Given the description of an element on the screen output the (x, y) to click on. 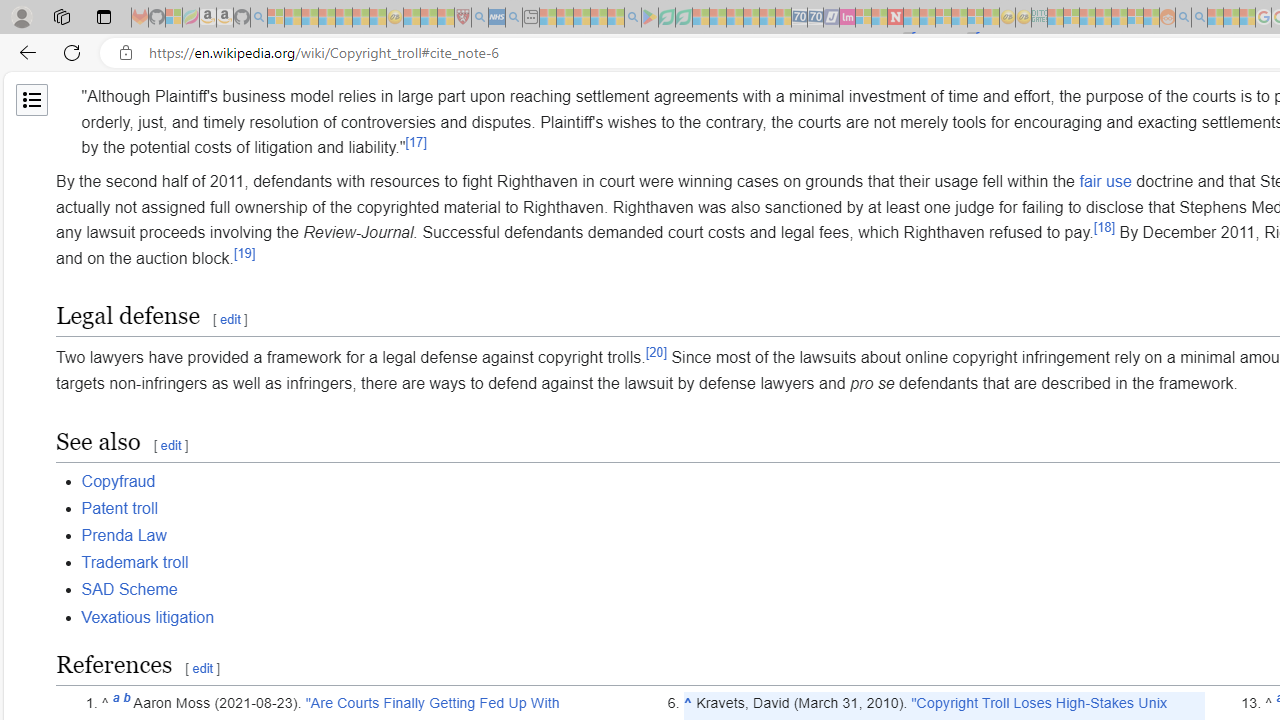
Jobs - lastminute.com Investor Portal - Sleeping (847, 17)
Expert Portfolios - Sleeping (1103, 17)
Bluey: Let's Play! - Apps on Google Play - Sleeping (649, 17)
Microsoft account | Privacy - Sleeping (1071, 17)
New Report Confirms 2023 Was Record Hot | Watch - Sleeping (343, 17)
[18] (1104, 226)
Latest Politics News & Archive | Newsweek.com - Sleeping (895, 17)
utah sues federal government - Search - Sleeping (513, 17)
SAD Scheme (128, 590)
